Given the description of an element on the screen output the (x, y) to click on. 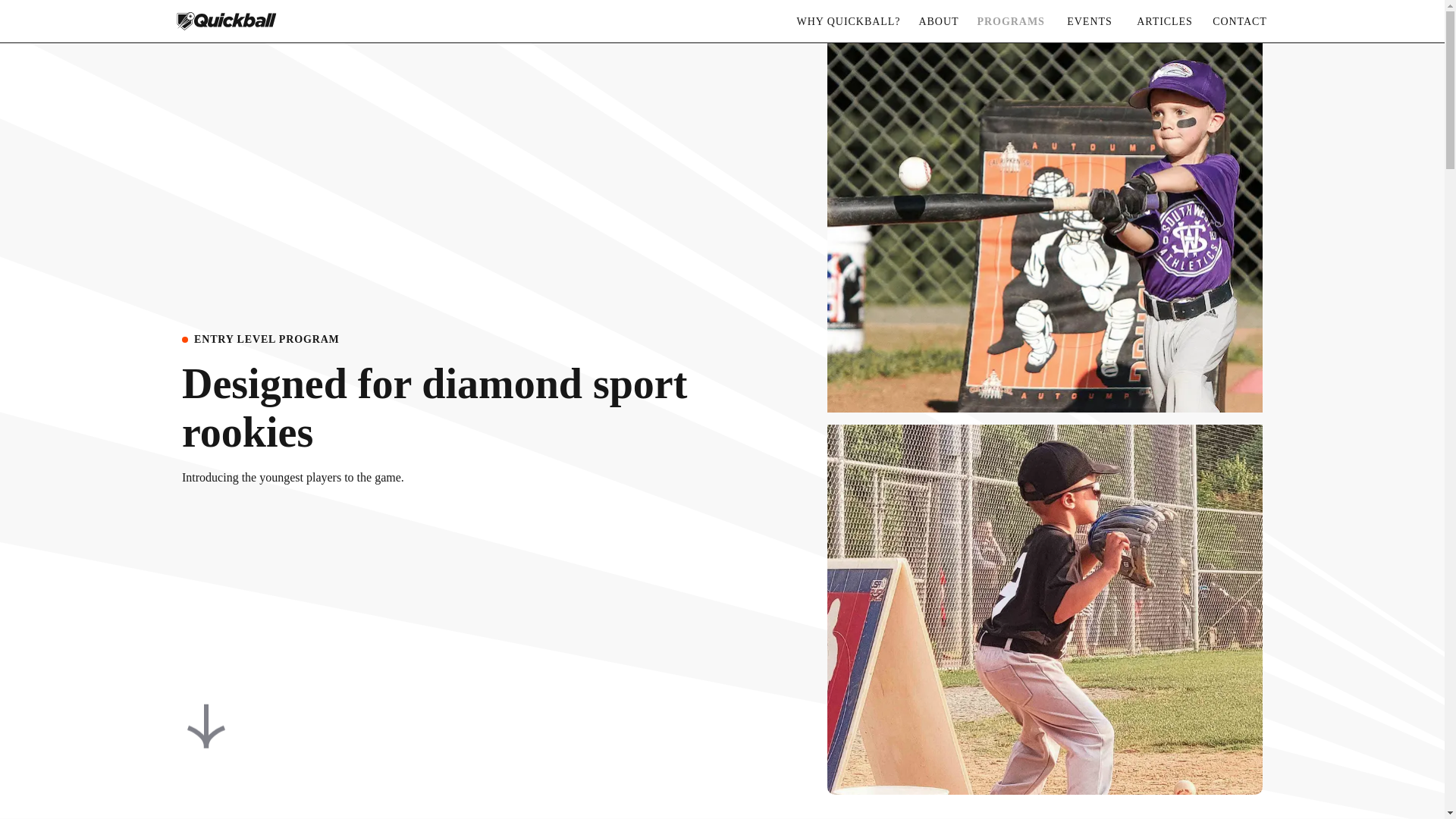
WHY QUICKBALL? (847, 21)
PROGRAMS (1009, 21)
ABOUT (938, 21)
ARTICLES (1163, 21)
EVENTS (1089, 21)
CONTACT (1239, 21)
